Given the description of an element on the screen output the (x, y) to click on. 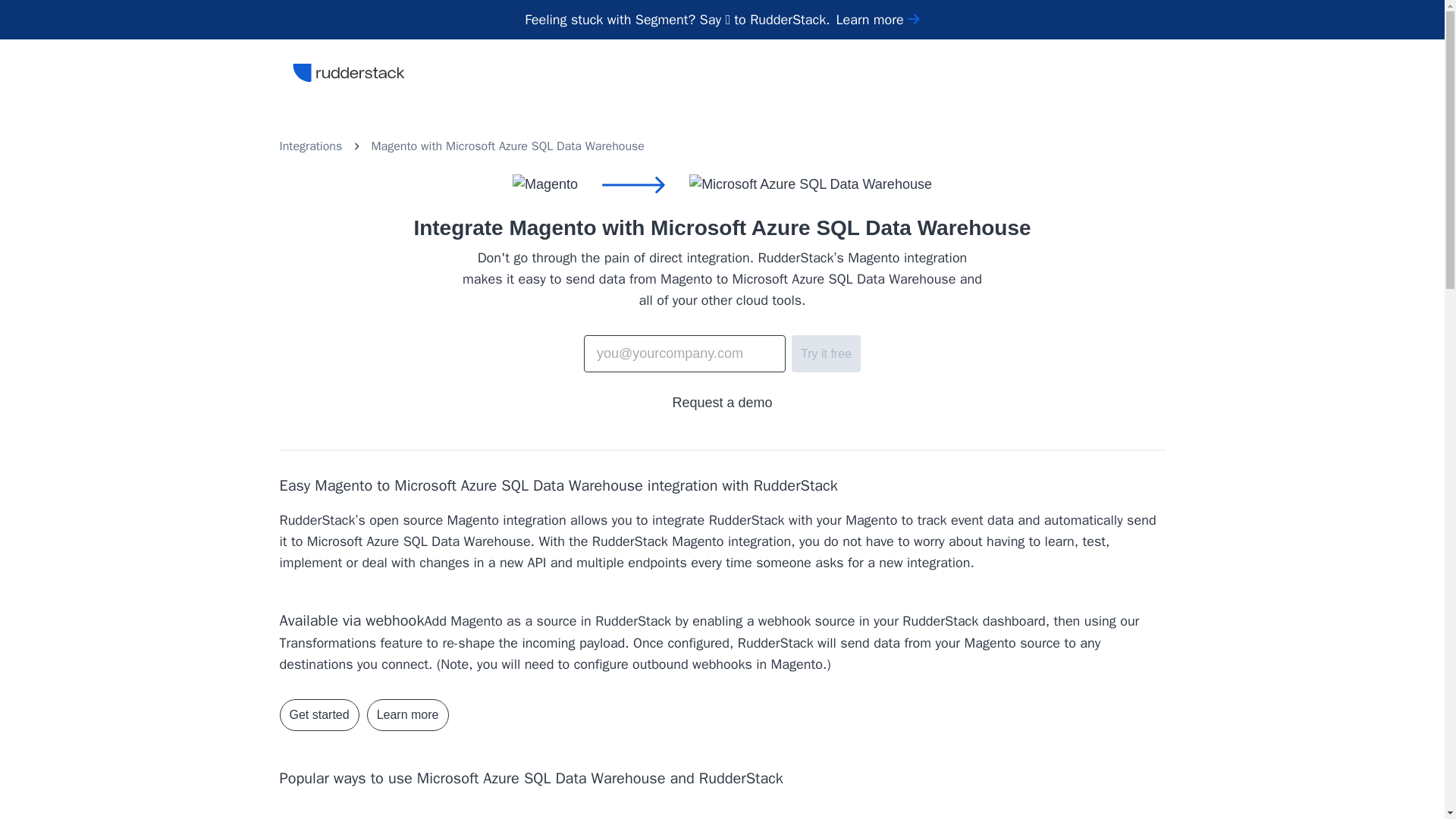
Request a demo (721, 403)
Microsoft Azure SQL Data Warehouse (545, 145)
Get started (318, 715)
Learn more (877, 19)
Try it free (826, 353)
Learn more (407, 715)
Integrations (310, 145)
Magento (394, 145)
